Given the description of an element on the screen output the (x, y) to click on. 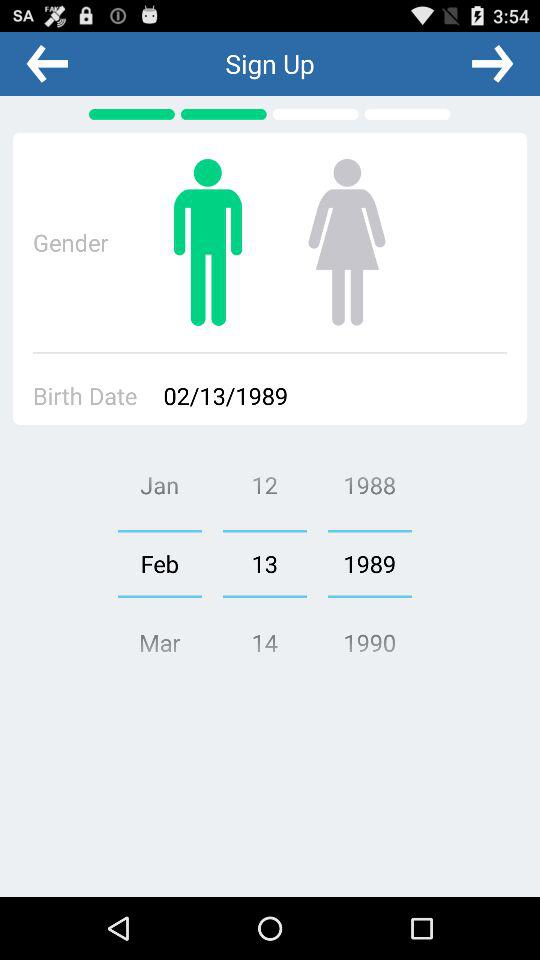
select the app to the left of sign up app (47, 63)
